Given the description of an element on the screen output the (x, y) to click on. 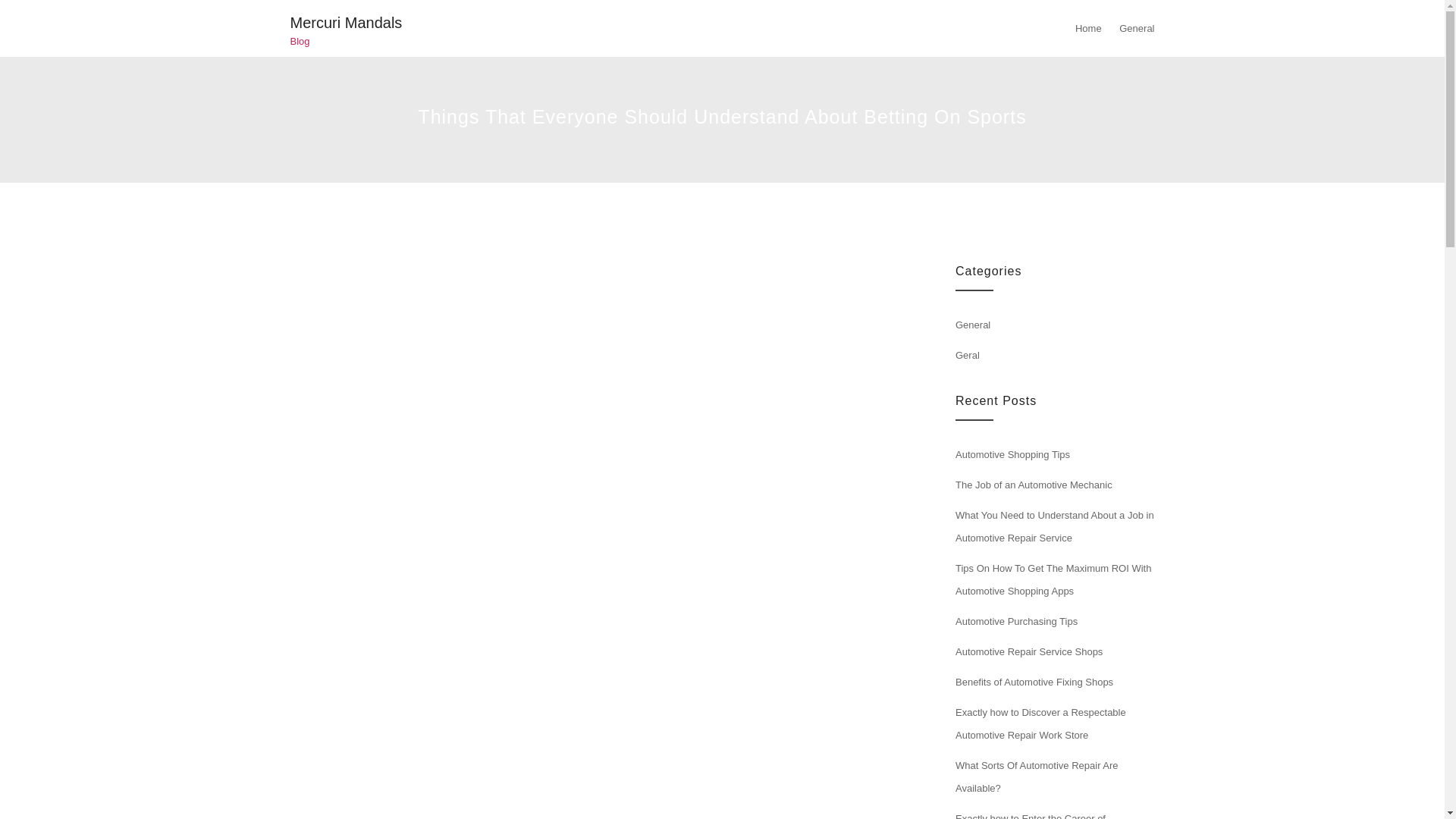
Geral (967, 355)
Automotive Shopping Tips (1012, 454)
What Sorts Of Automotive Repair Are Available? (1036, 776)
Automotive Repair Service Shops (1028, 651)
General (972, 324)
Benefits of Automotive Fixing Shops (1034, 681)
Automotive Purchasing Tips (1016, 621)
Mercuri Mandals (345, 22)
